Given the description of an element on the screen output the (x, y) to click on. 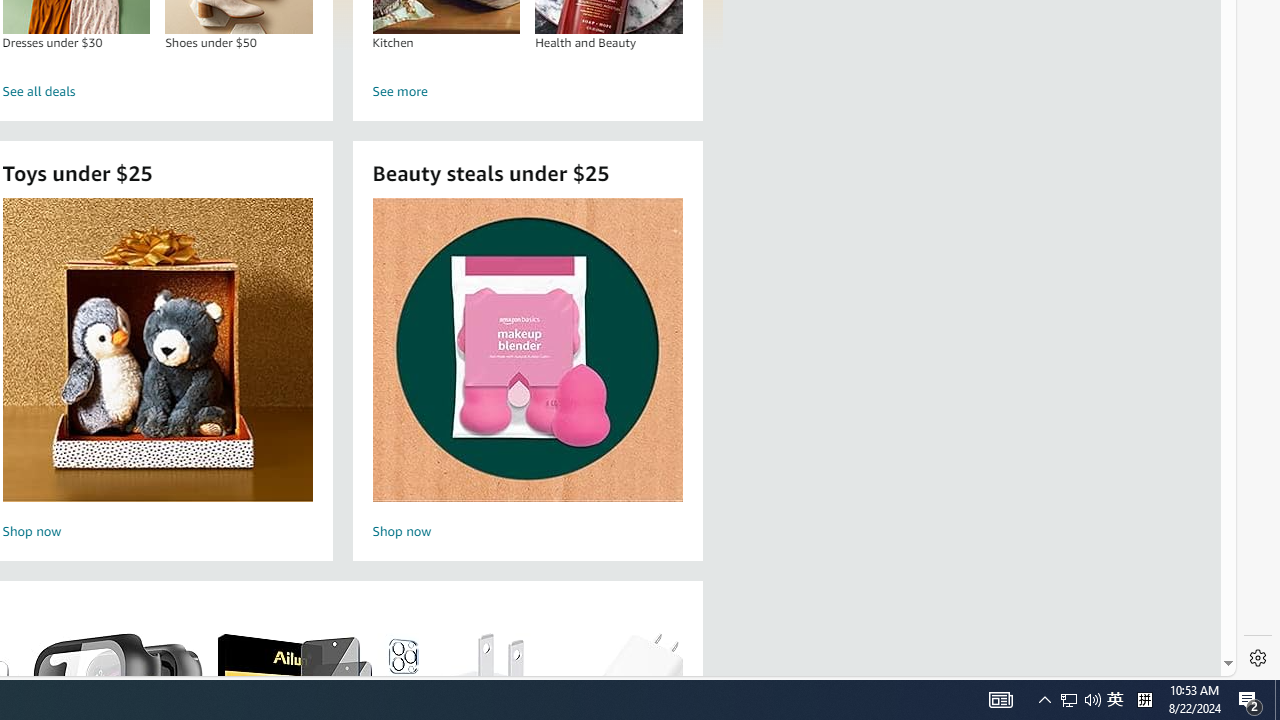
See all deals (157, 92)
Beauty steals under $25 Shop now (527, 371)
Beauty steals under $25 (526, 349)
